Given the description of an element on the screen output the (x, y) to click on. 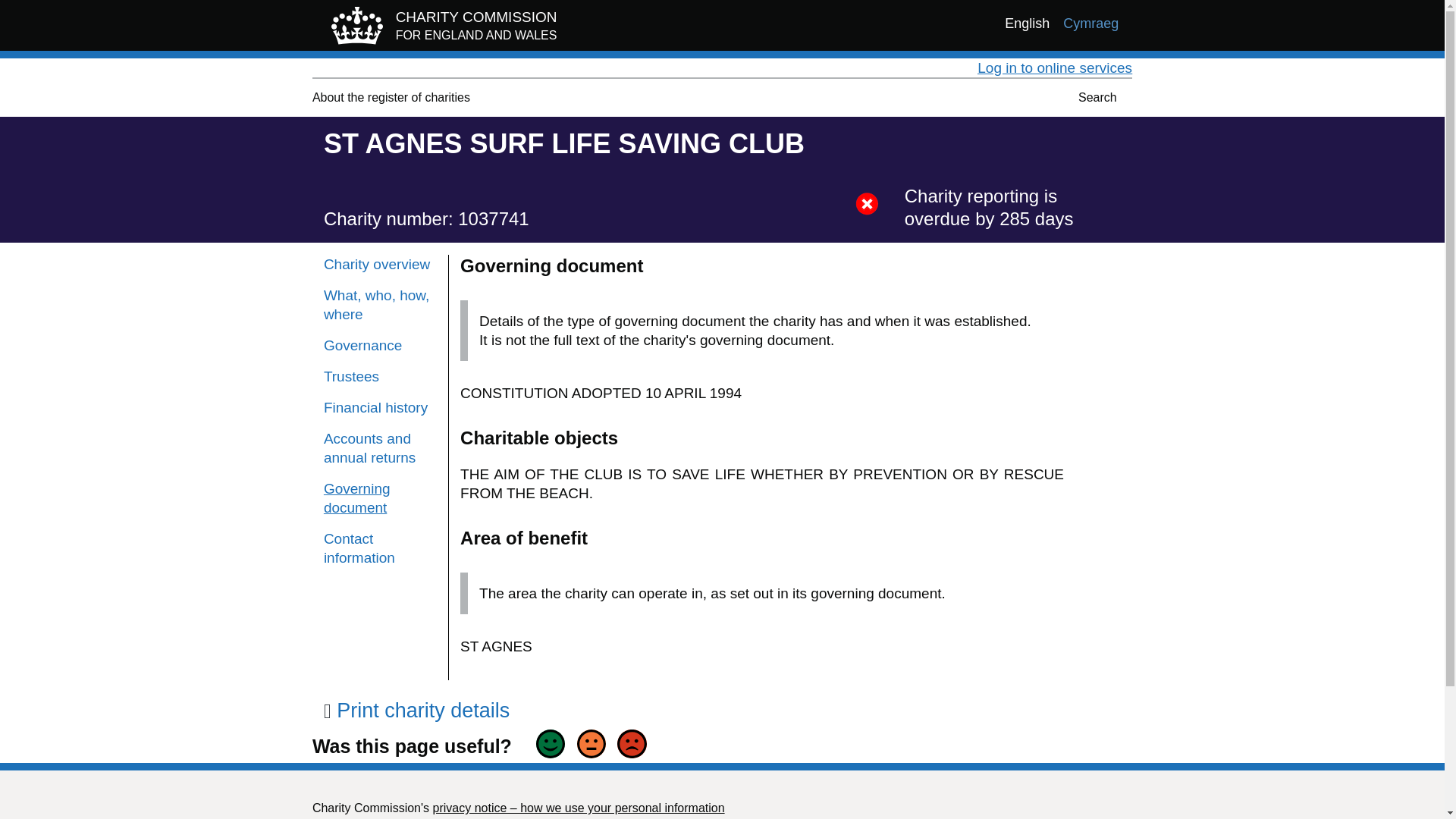
What, who, how, where (379, 304)
Cymraeg (1091, 23)
Contact information (379, 548)
Charity overview (379, 263)
Accounts and annual returns (379, 447)
Log in to online services (1054, 67)
Governance (379, 344)
Print charity details (439, 28)
Financial history (416, 710)
